Given the description of an element on the screen output the (x, y) to click on. 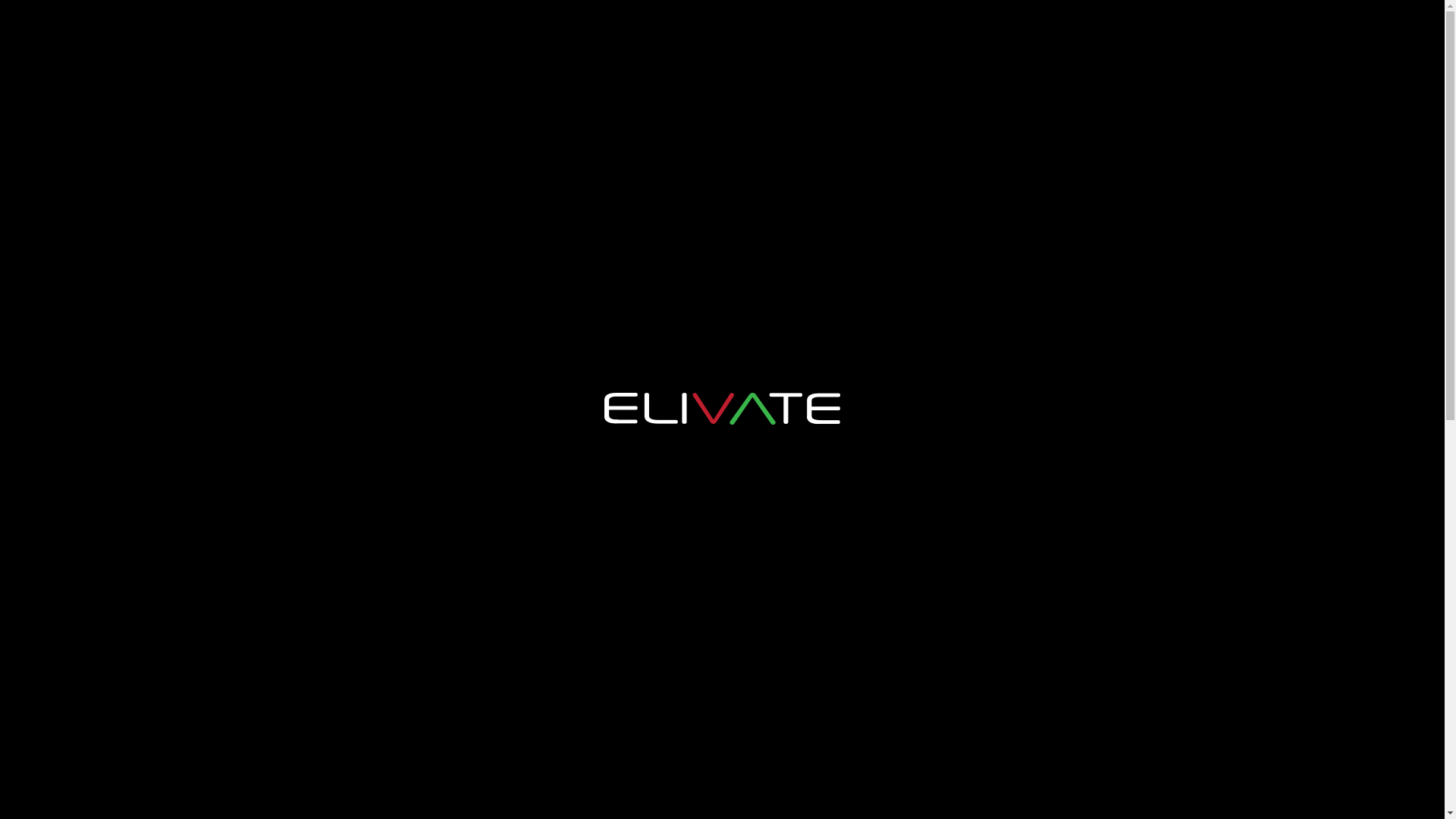
Contact Element type: text (1341, 33)
About us Element type: text (1031, 33)
Home Element type: text (944, 33)
Commercial Element type: text (1135, 33)
Residential Element type: text (1244, 33)
LEARN MORE Element type: text (475, 569)
LEARN MORE Element type: text (968, 569)
